Given the description of an element on the screen output the (x, y) to click on. 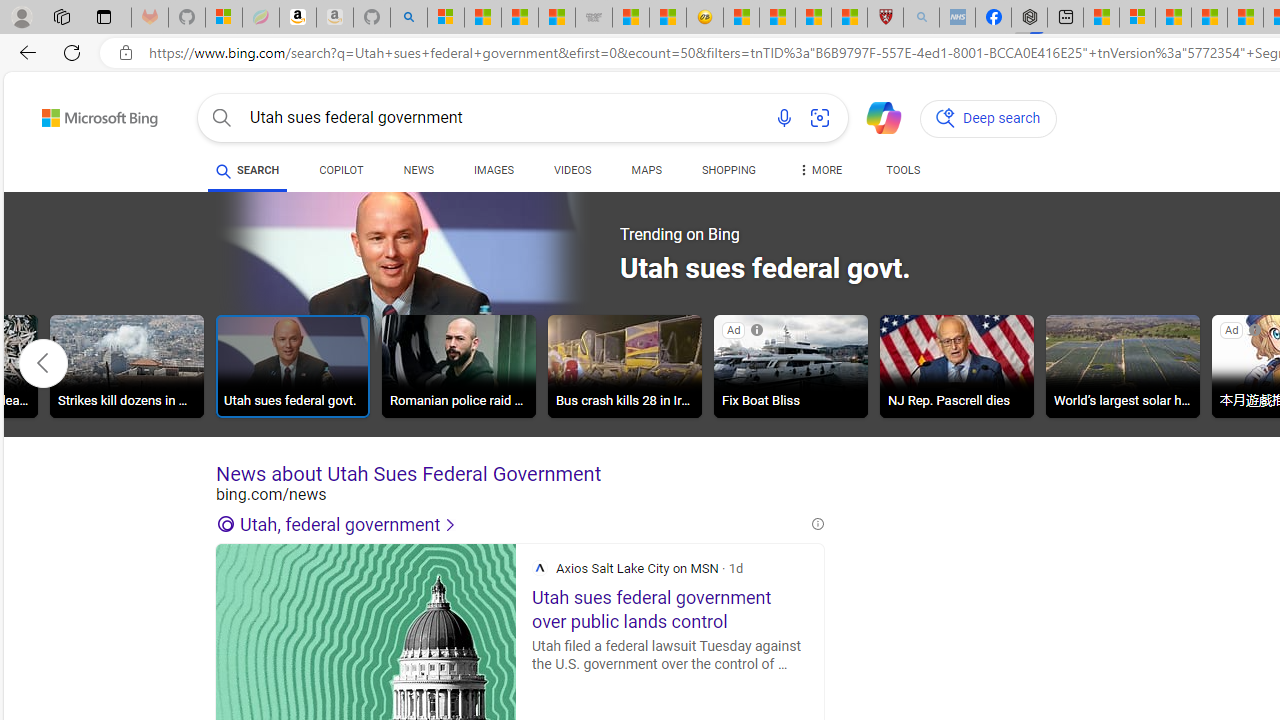
About our ads (1255, 330)
Fix Boat BlissAd (790, 369)
Dropdown Menu (819, 170)
TOOLS (903, 170)
MAPS (646, 170)
Axios Salt Lake City on MSN (539, 568)
Romanian police raid home (458, 369)
